Given the description of an element on the screen output the (x, y) to click on. 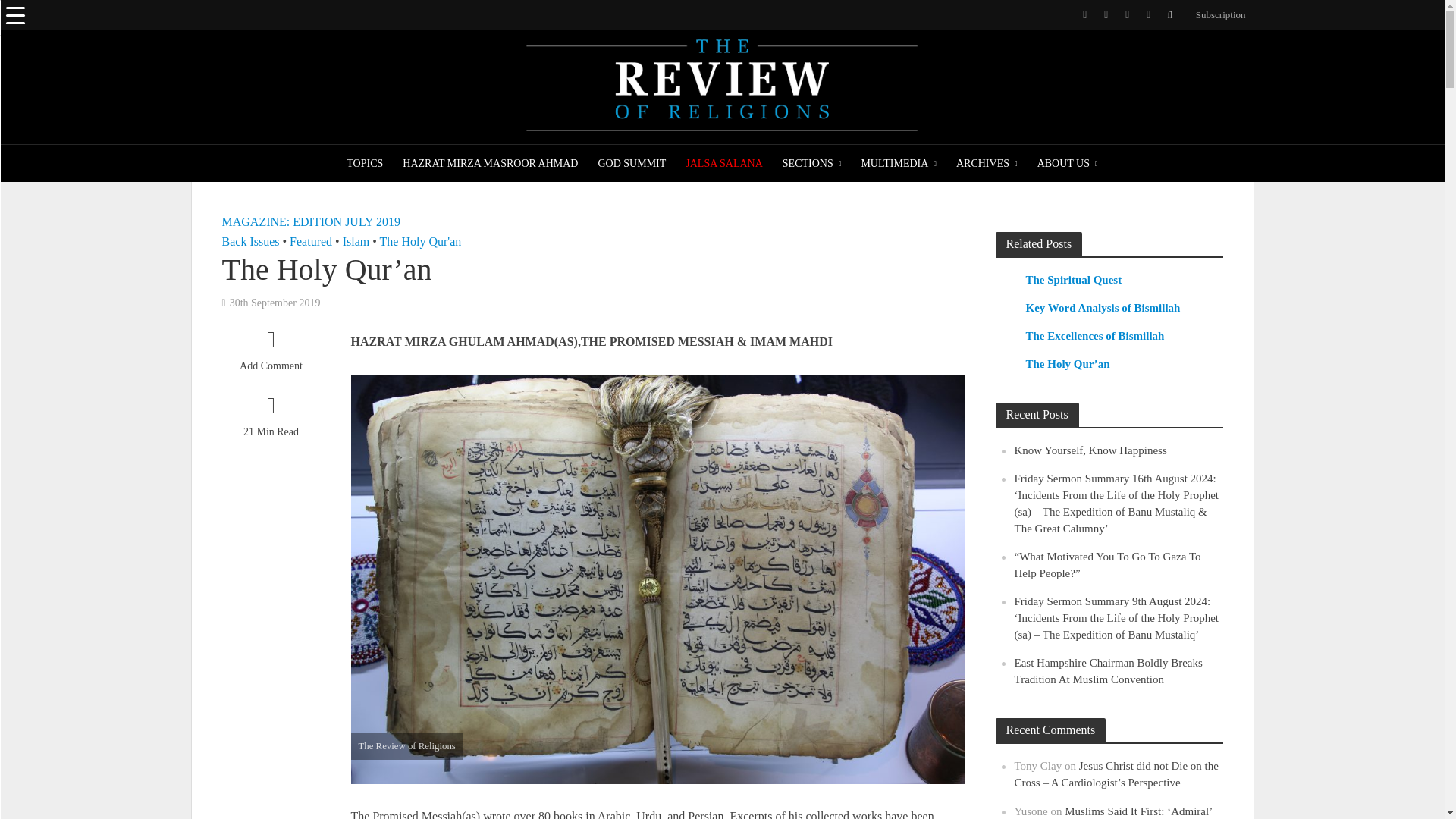
SECTIONS (812, 163)
HAZRAT MIRZA MASROOR AHMAD (490, 163)
Subscription (1217, 15)
ARCHIVES (986, 163)
Search (26, 18)
ABOUT US (1067, 163)
GOD SUMMIT (631, 163)
JALSA SALANA (724, 163)
MULTIMEDIA (898, 163)
TOPICS (364, 163)
